Given the description of an element on the screen output the (x, y) to click on. 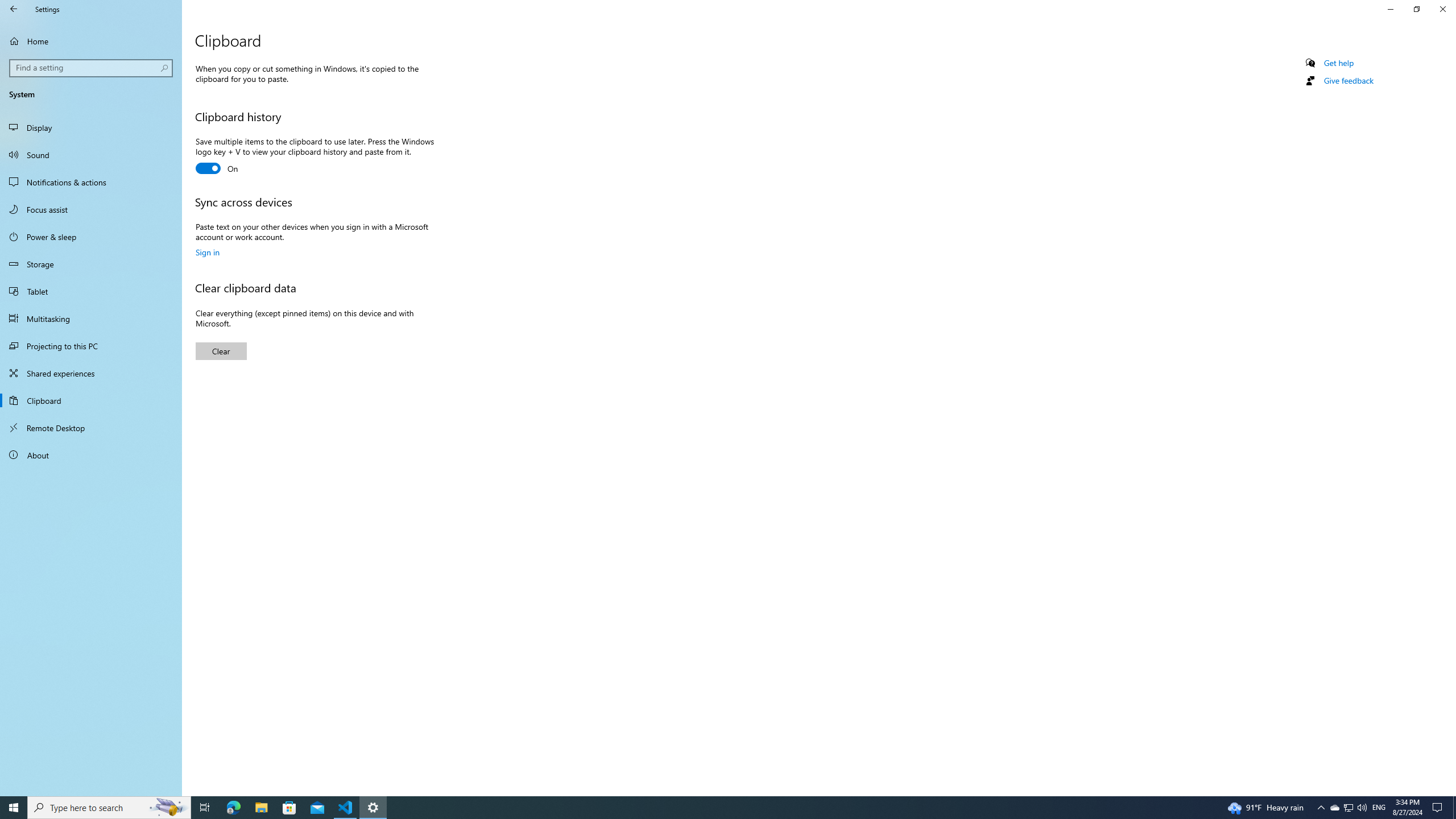
Clear (221, 351)
Search box, Find a setting (91, 67)
Back (13, 9)
Sound (91, 154)
Focus assist (91, 208)
Home (91, 40)
